Given the description of an element on the screen output the (x, y) to click on. 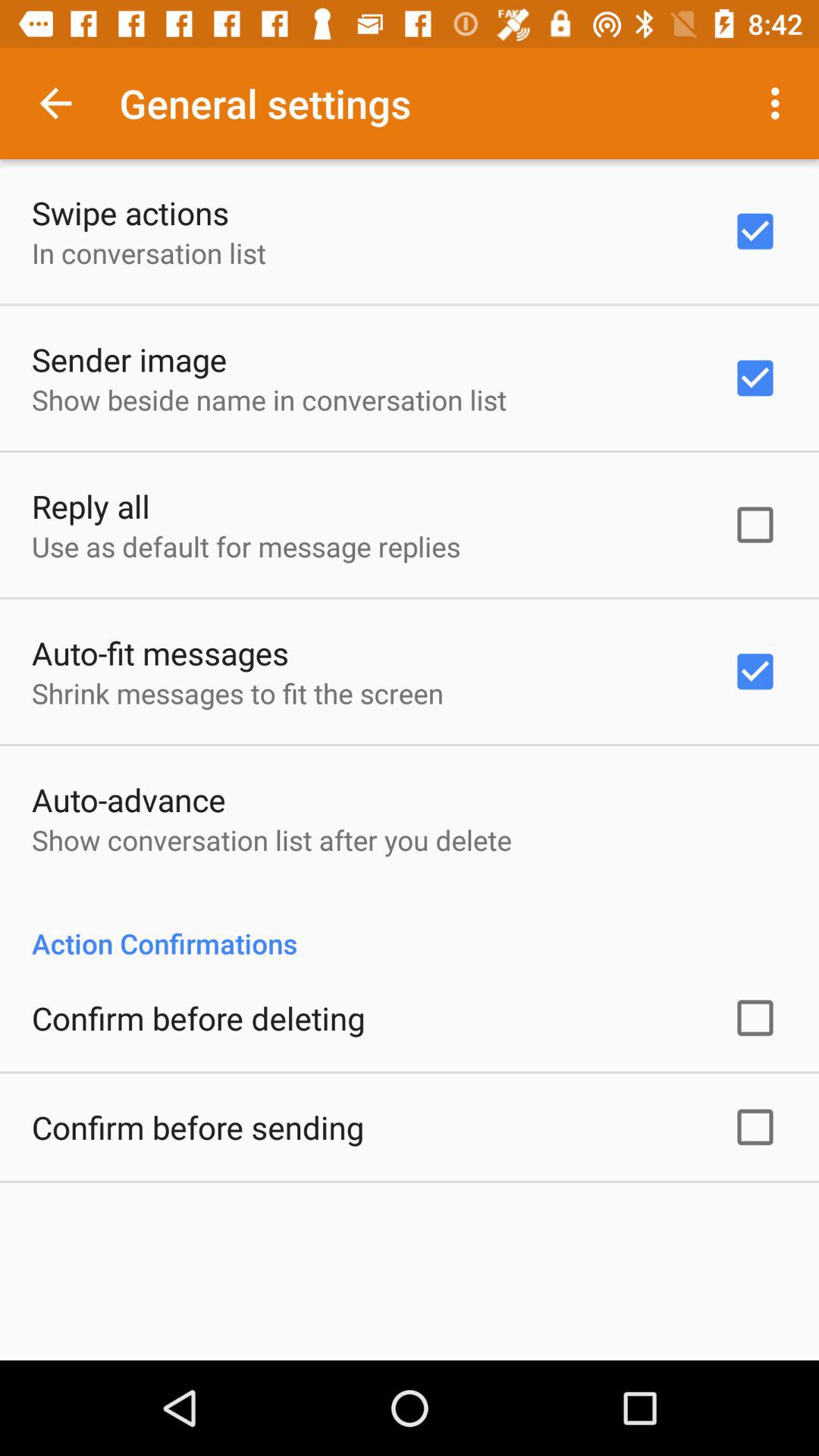
choose the app above auto-advance icon (237, 693)
